Given the description of an element on the screen output the (x, y) to click on. 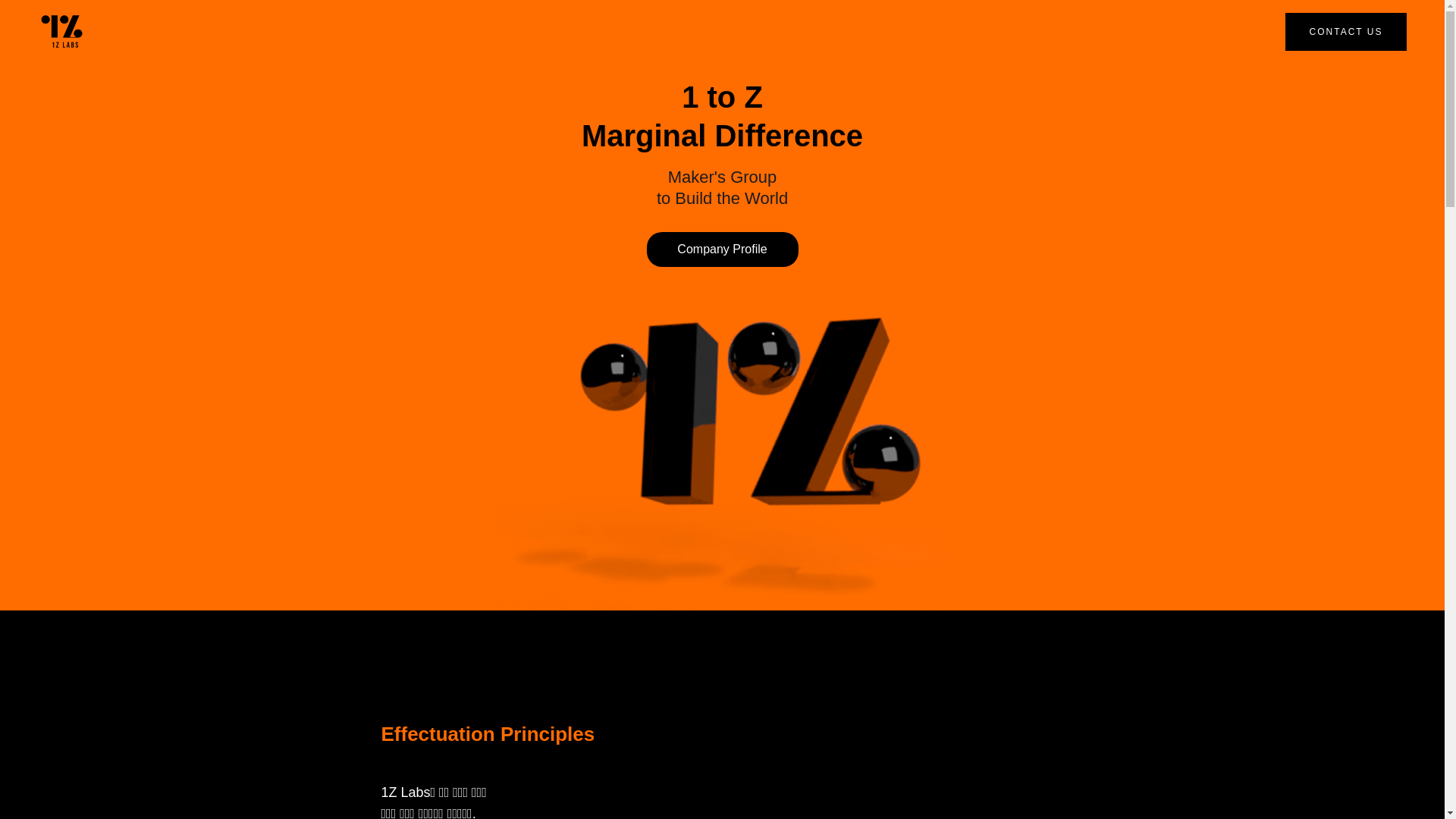
Company Profile Element type: text (721, 249)
CONTACT US Element type: text (1345, 31)
